Given the description of an element on the screen output the (x, y) to click on. 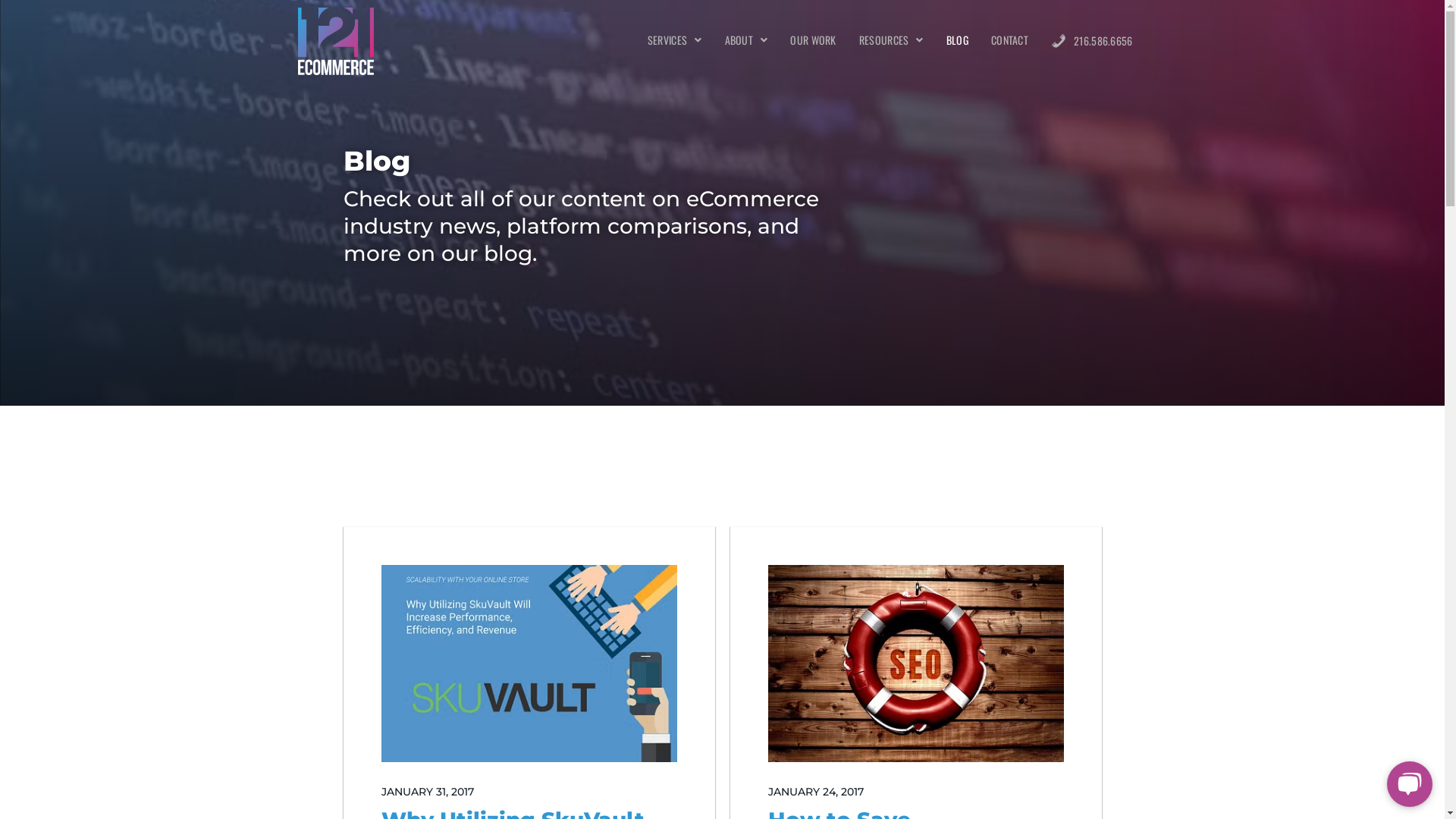
CONTACT Element type: text (1009, 39)
216.586.6656 Element type: text (1091, 40)
RESOURCES Element type: text (891, 39)
ABOUT Element type: text (746, 39)
BLOG Element type: text (957, 39)
SERVICES Element type: text (674, 39)
OUR WORK Element type: text (812, 39)
